Given the description of an element on the screen output the (x, y) to click on. 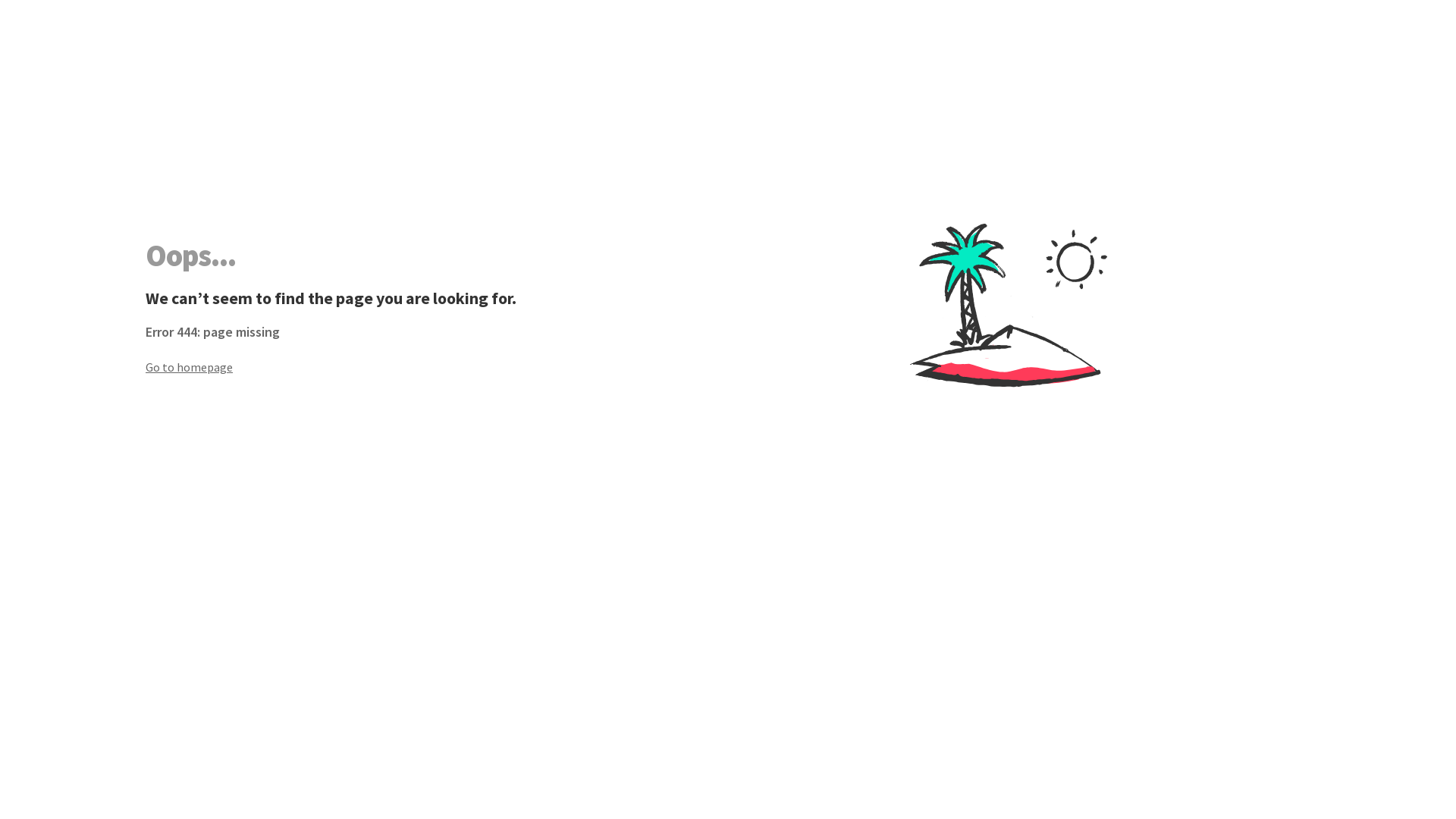
Go to homepage Element type: text (436, 366)
